Given the description of an element on the screen output the (x, y) to click on. 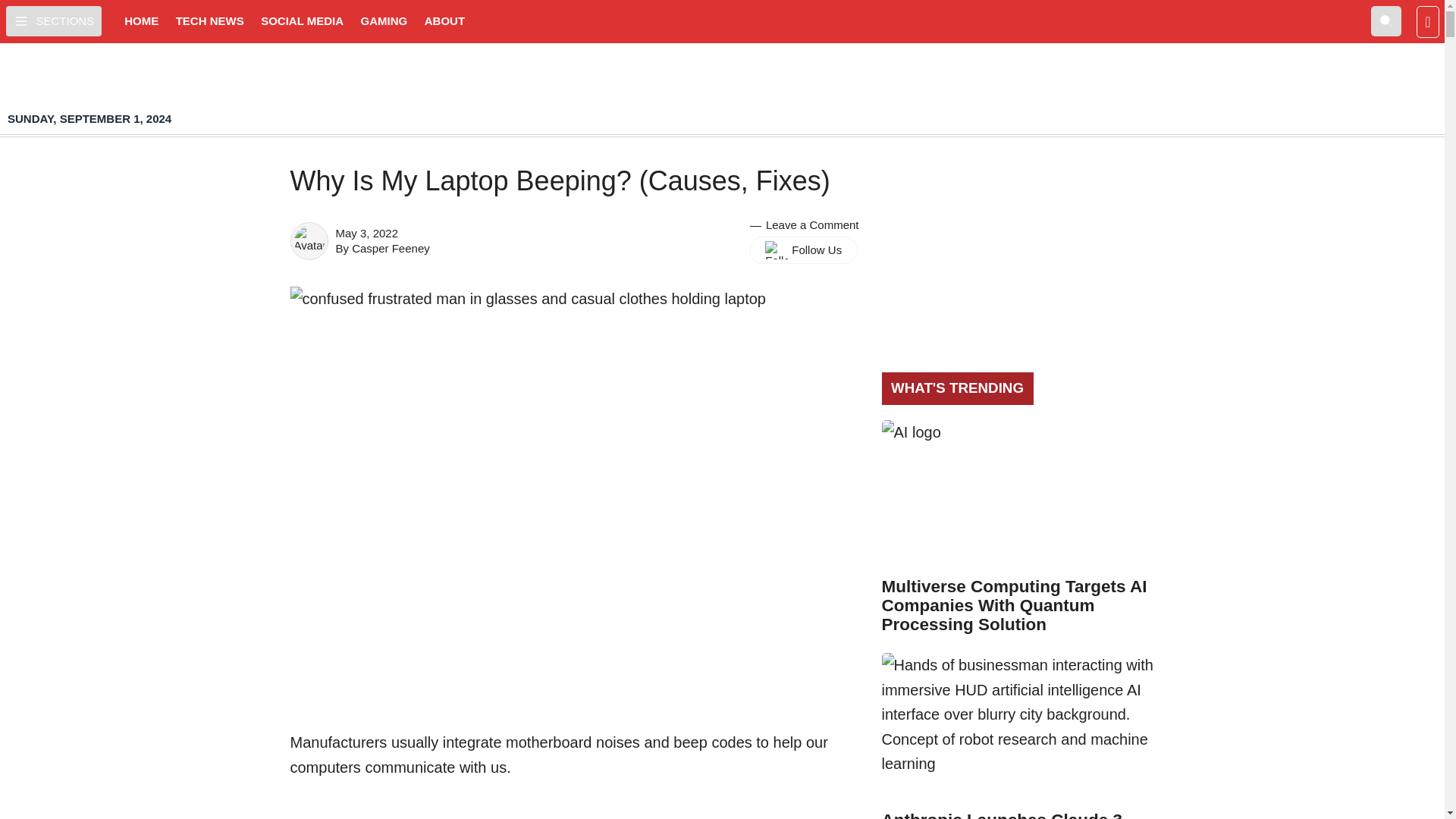
Leave a Comment (812, 224)
Follow Us (803, 249)
GAMING (384, 21)
THE TECH WIRE (722, 88)
SECTIONS (53, 20)
SOCIAL MEDIA (301, 21)
Open Menu (53, 20)
HOME (140, 21)
ABOUT (444, 21)
